Given the description of an element on the screen output the (x, y) to click on. 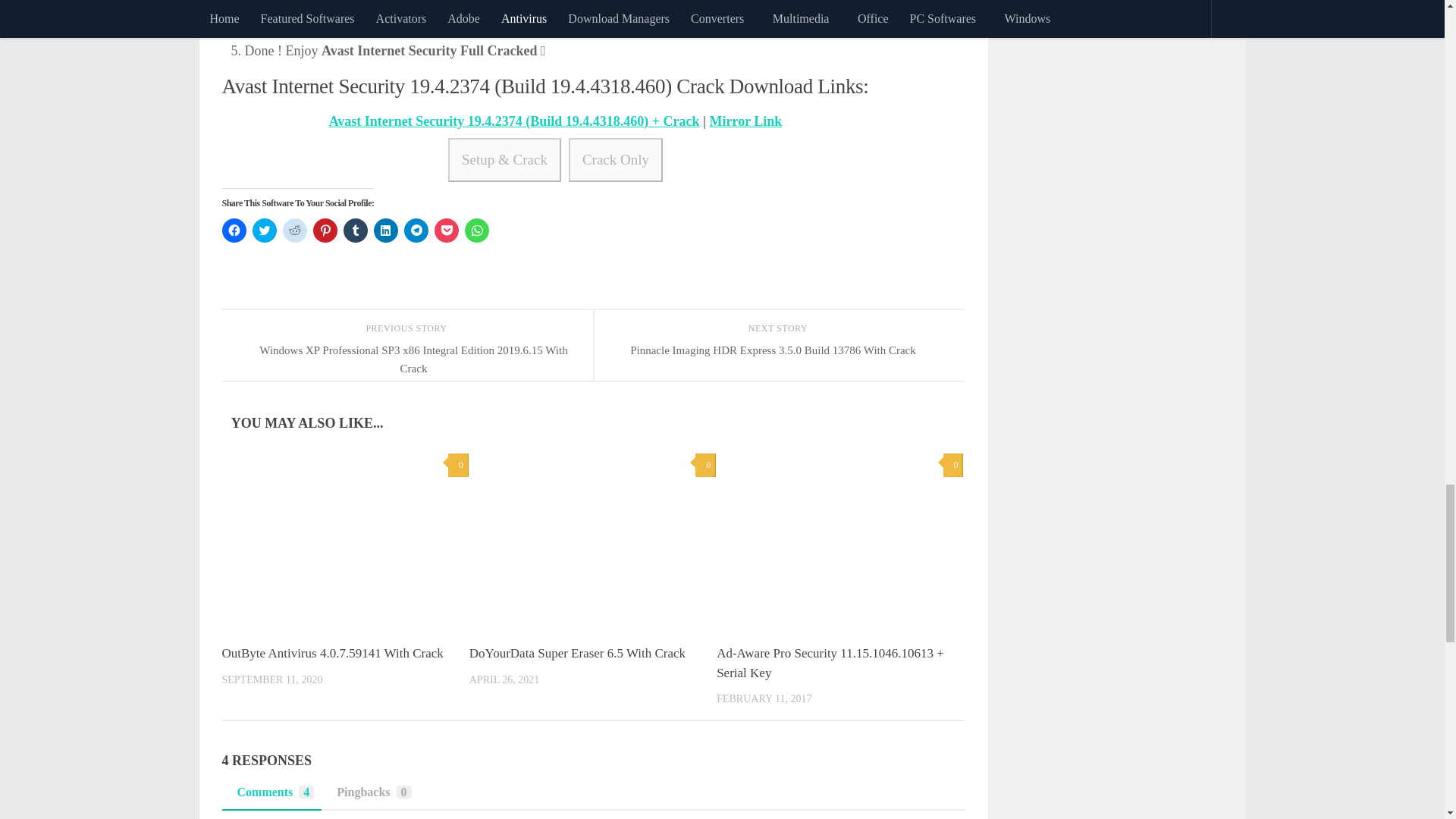
Click to share on Twitter (263, 230)
Click to share on Pinterest (324, 230)
Click to share on LinkedIn (384, 230)
Click to share on Telegram (415, 230)
Click to share on Facebook (233, 230)
Click to share on Tumblr (354, 230)
Click to share on Reddit (293, 230)
